Given the description of an element on the screen output the (x, y) to click on. 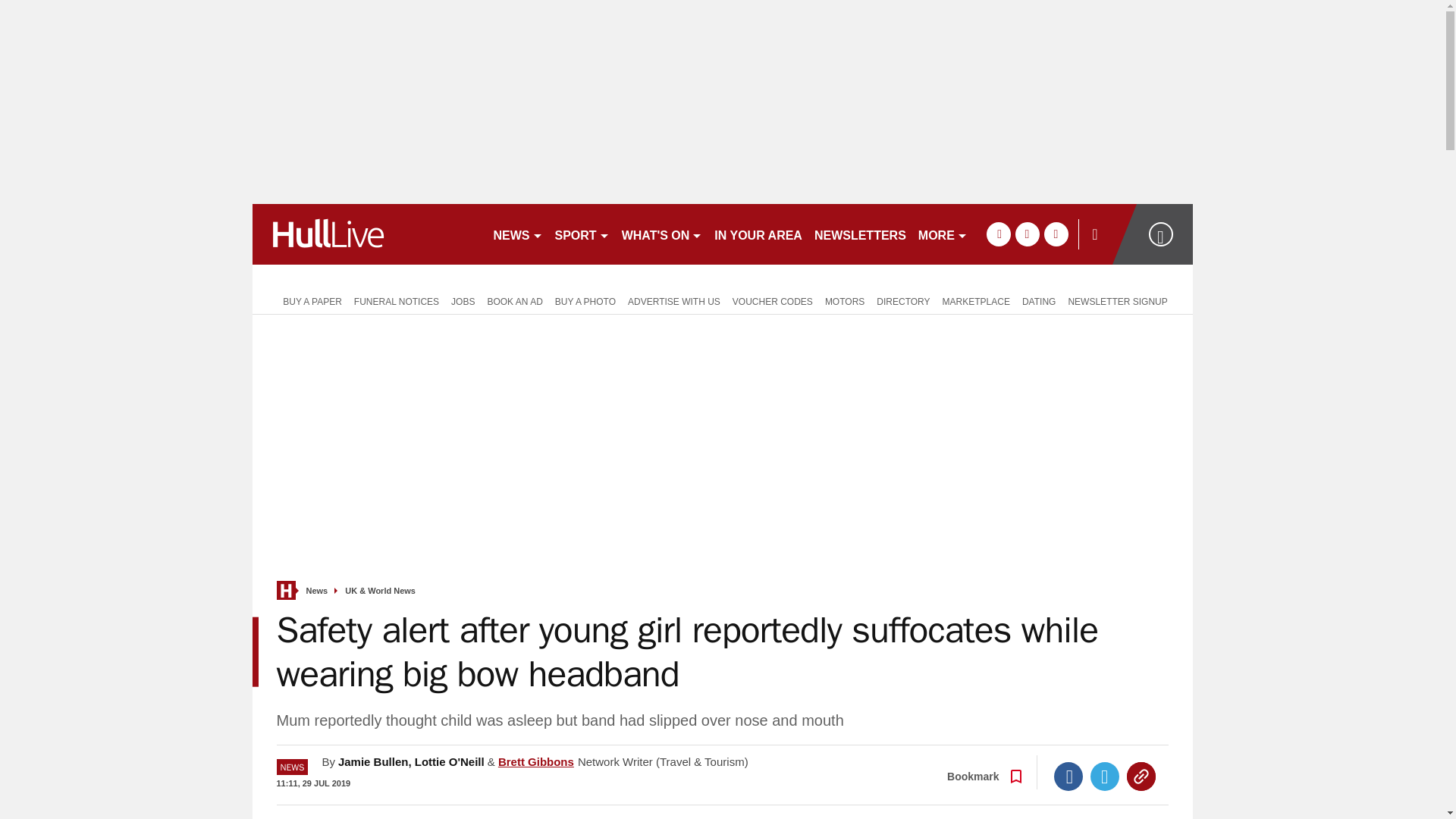
Facebook (1068, 776)
IN YOUR AREA (757, 233)
instagram (1055, 233)
SPORT (581, 233)
WHAT'S ON (662, 233)
MORE (943, 233)
Twitter (1104, 776)
hulldailymail (365, 233)
NEWSLETTERS (860, 233)
facebook (997, 233)
